Given the description of an element on the screen output the (x, y) to click on. 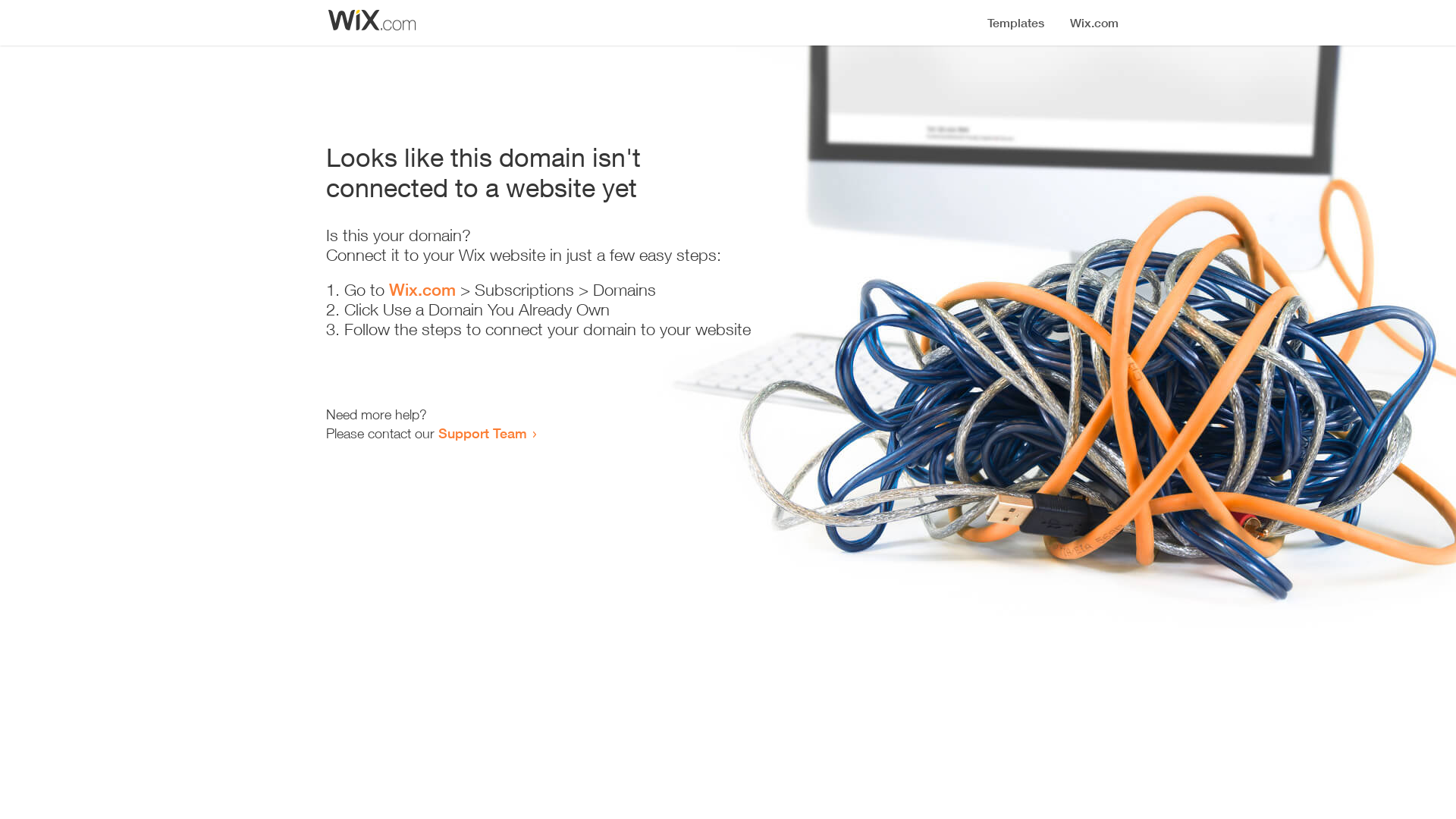
Support Team Element type: text (482, 432)
Wix.com Element type: text (422, 289)
